Given the description of an element on the screen output the (x, y) to click on. 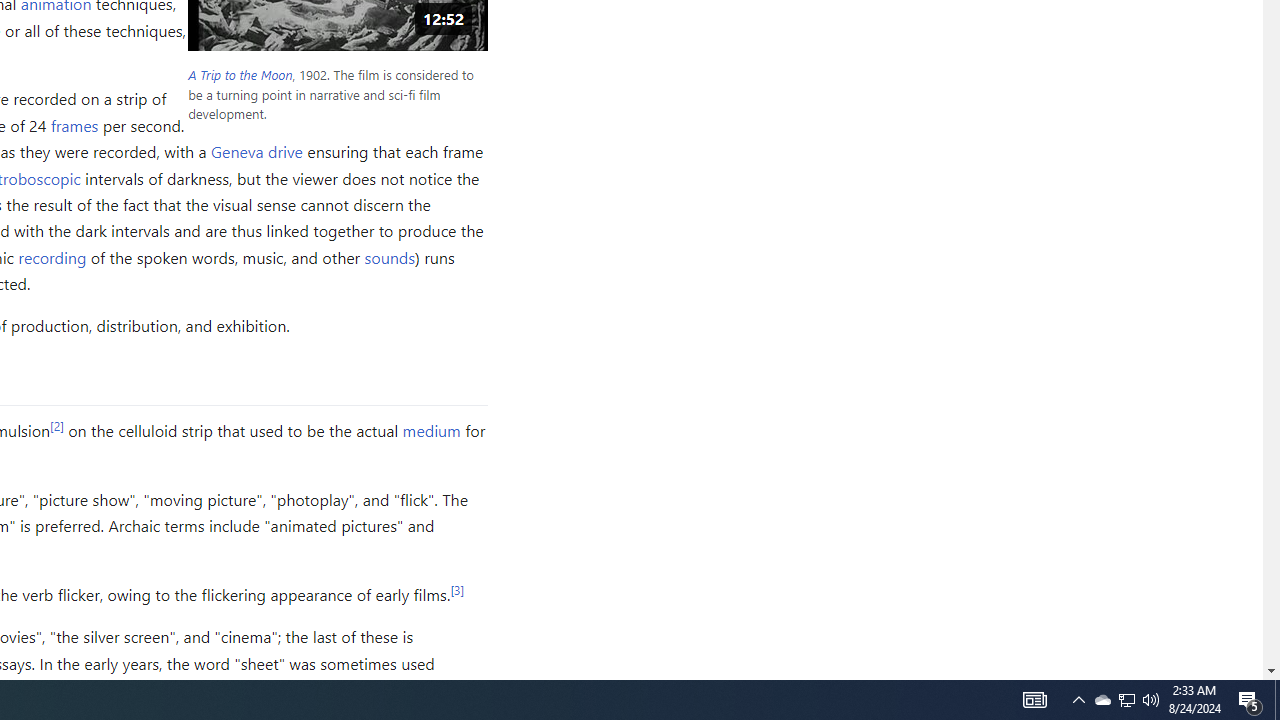
[3] (457, 589)
frames (73, 124)
medium (430, 429)
[2] (56, 425)
A Trip to the Moon (240, 75)
Geneva drive (257, 151)
sounds (388, 256)
recording (52, 256)
